Given the description of an element on the screen output the (x, y) to click on. 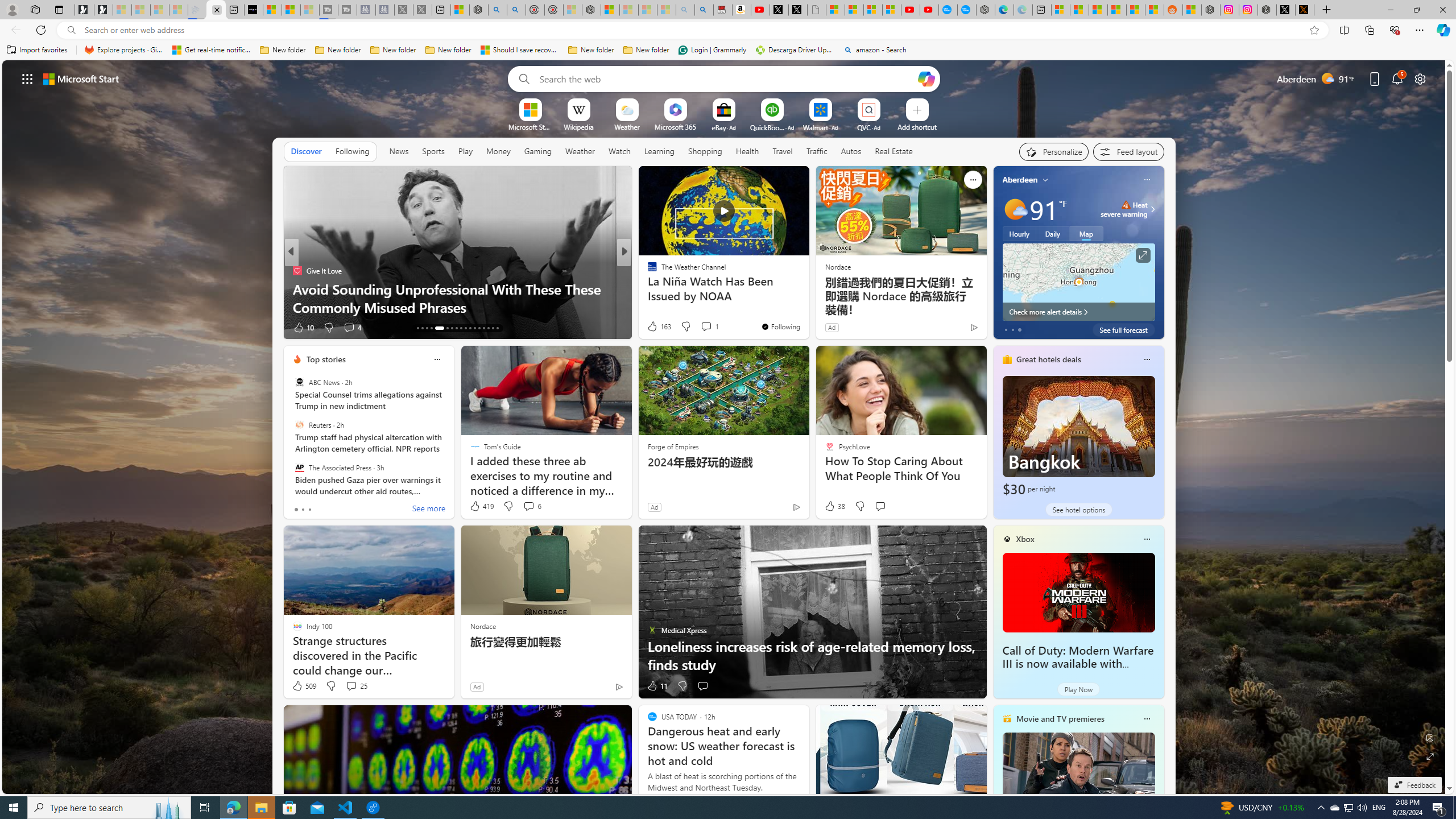
Untitled (816, 9)
AutomationID: tab-21 (460, 328)
Page settings (1420, 78)
Real Estate (893, 151)
AutomationID: tab-15 (426, 328)
The Associated Press (299, 466)
View comments 18 Comment (6, 327)
11 Like (657, 685)
Fox Weather (647, 270)
Dailymotion (647, 270)
